Given the description of an element on the screen output the (x, y) to click on. 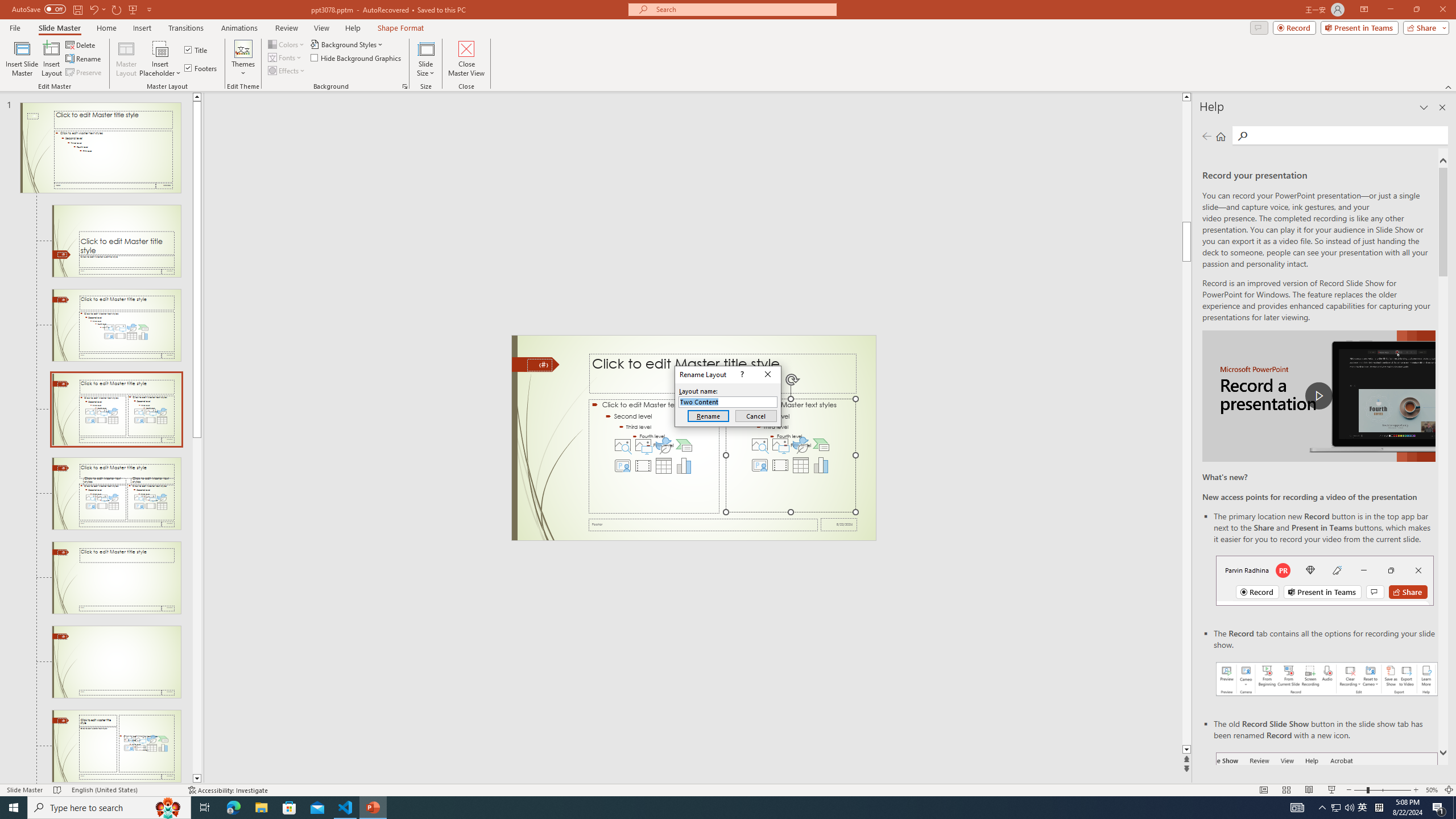
Slide Title Only Layout: used by no slides (116, 661)
Layout name (727, 401)
Slide Title Slide Layout: used by slide(s) 1 (116, 240)
